Given the description of an element on the screen output the (x, y) to click on. 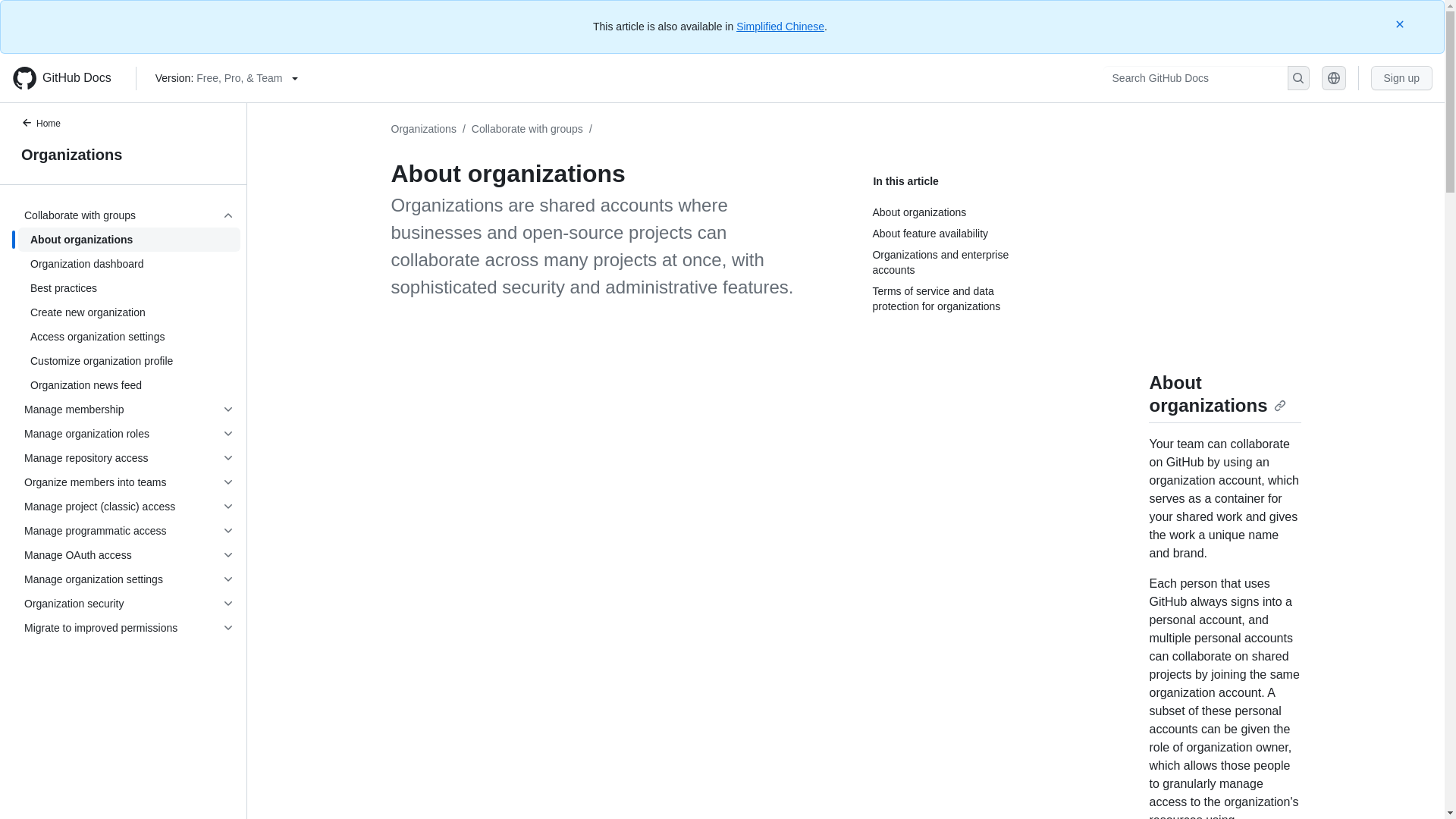
Sign up (1401, 78)
Customize organization profile (128, 360)
Collaborate with groups (527, 128)
Home (49, 124)
Collaborate with groups (128, 215)
Create new organization (128, 312)
Organizations (122, 154)
GitHub Docs (67, 78)
Best practices (128, 288)
Access organization settings (128, 336)
